Given the description of an element on the screen output the (x, y) to click on. 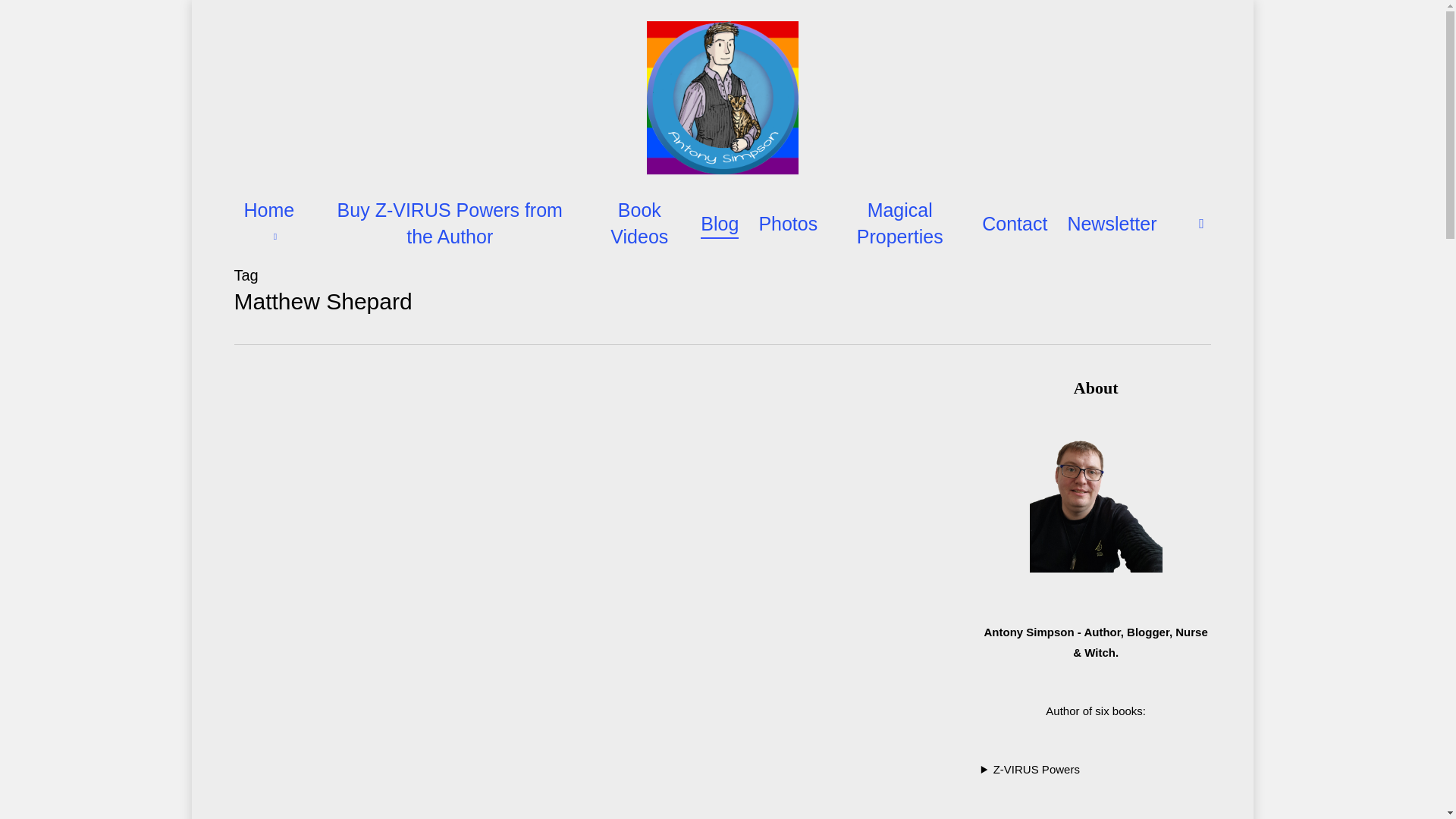
Contact (1013, 223)
Blog (719, 223)
Magical Properties (899, 223)
search (1200, 223)
Photos (787, 223)
Book Videos (638, 223)
Buy Z-VIRUS Powers from the Author (449, 223)
Newsletter (1111, 223)
Home (273, 223)
